Given the description of an element on the screen output the (x, y) to click on. 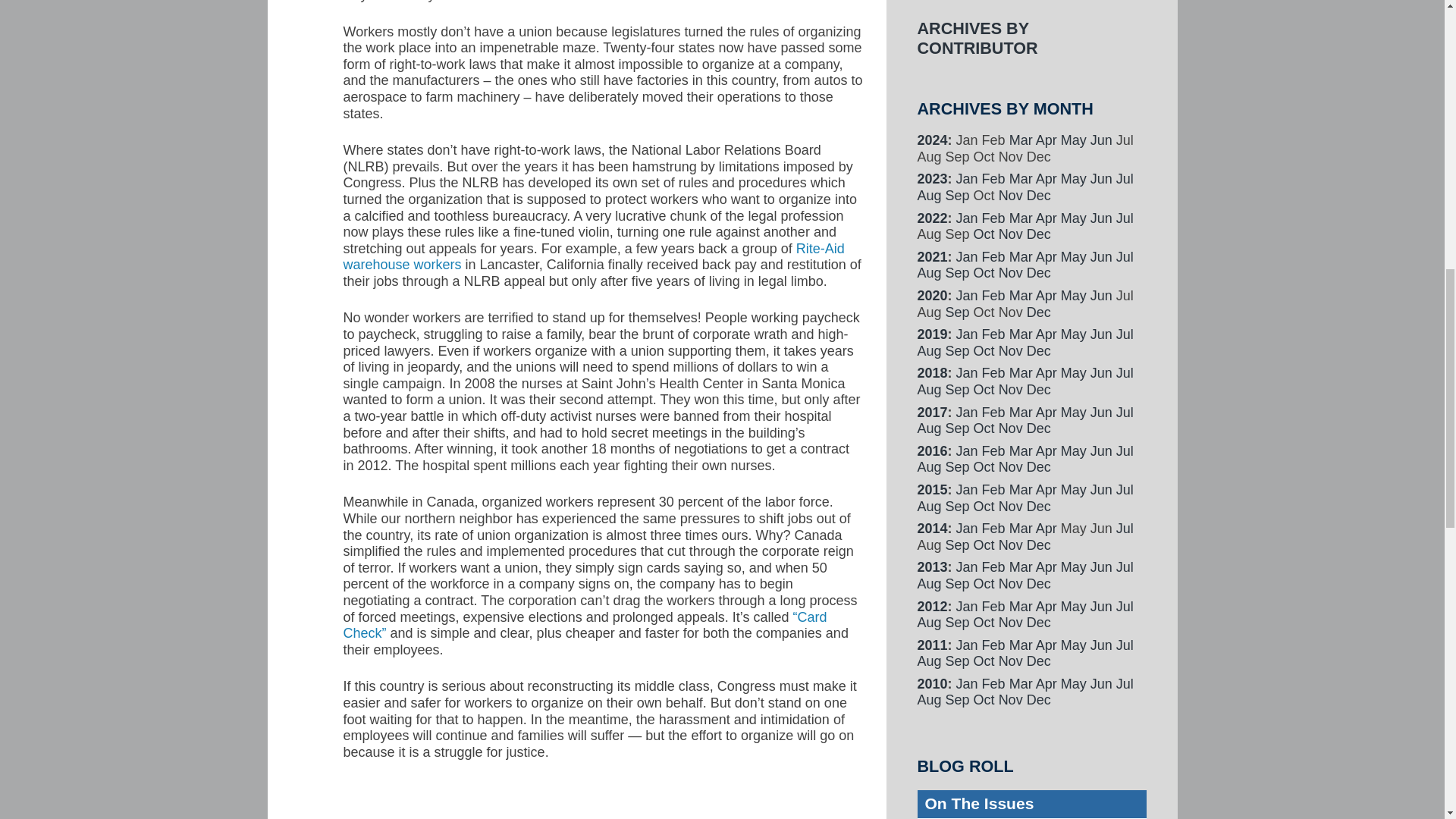
March 2001 (1020, 178)
September 2001 (956, 195)
March 2001 (1020, 140)
November 2001 (1010, 195)
May 2001 (1073, 178)
December 2001 (1038, 195)
February 2001 (993, 178)
April 2001 (1046, 178)
June 2001 (1101, 140)
May 2001 (1073, 140)
August 2001 (929, 195)
June 2001 (1101, 178)
Rite-Aid warehouse workers (593, 256)
January 2001 (967, 178)
